Given the description of an element on the screen output the (x, y) to click on. 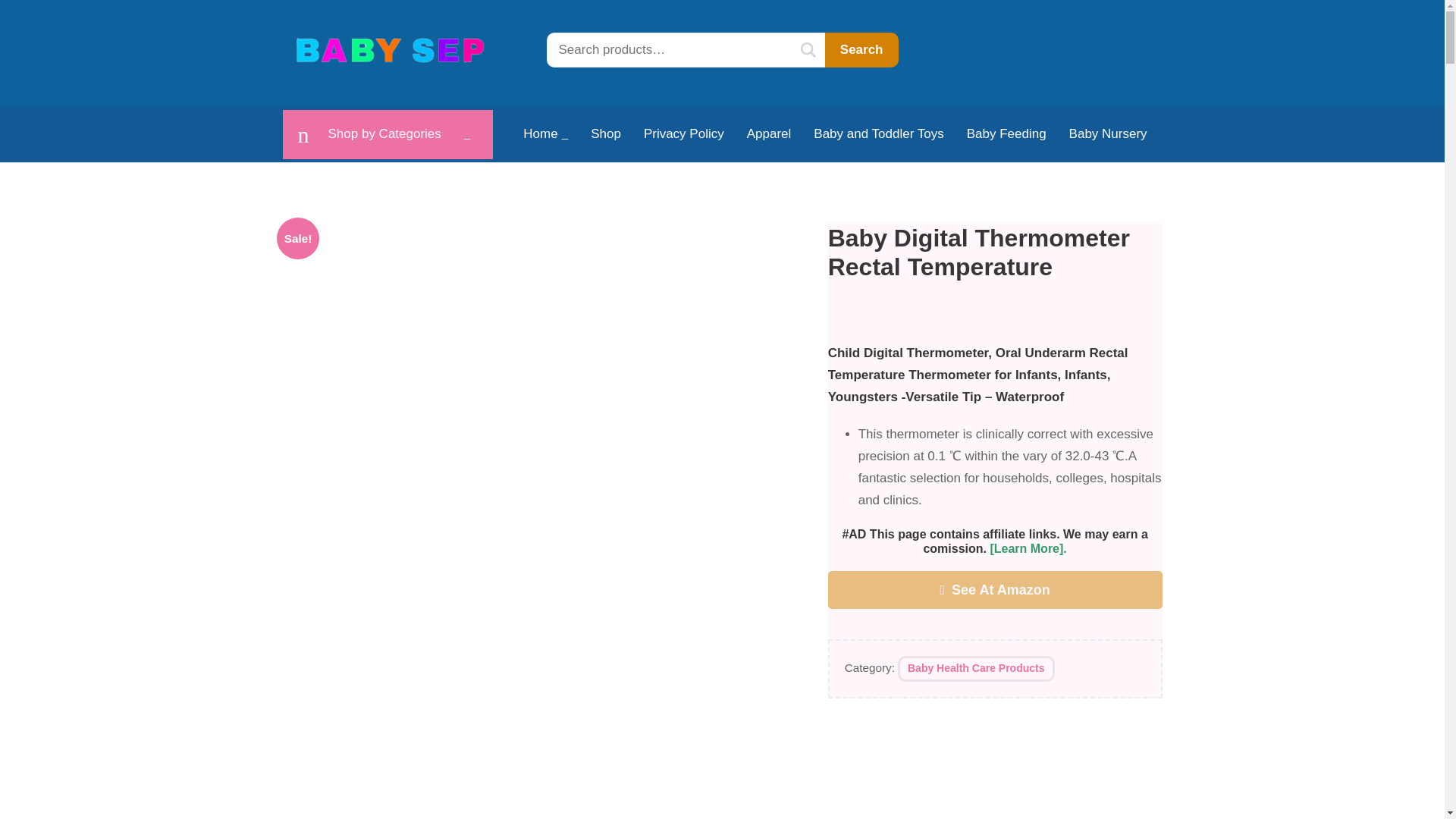
Search (861, 49)
BabySep.com (390, 49)
Shop by Categories (387, 133)
